Given the description of an element on the screen output the (x, y) to click on. 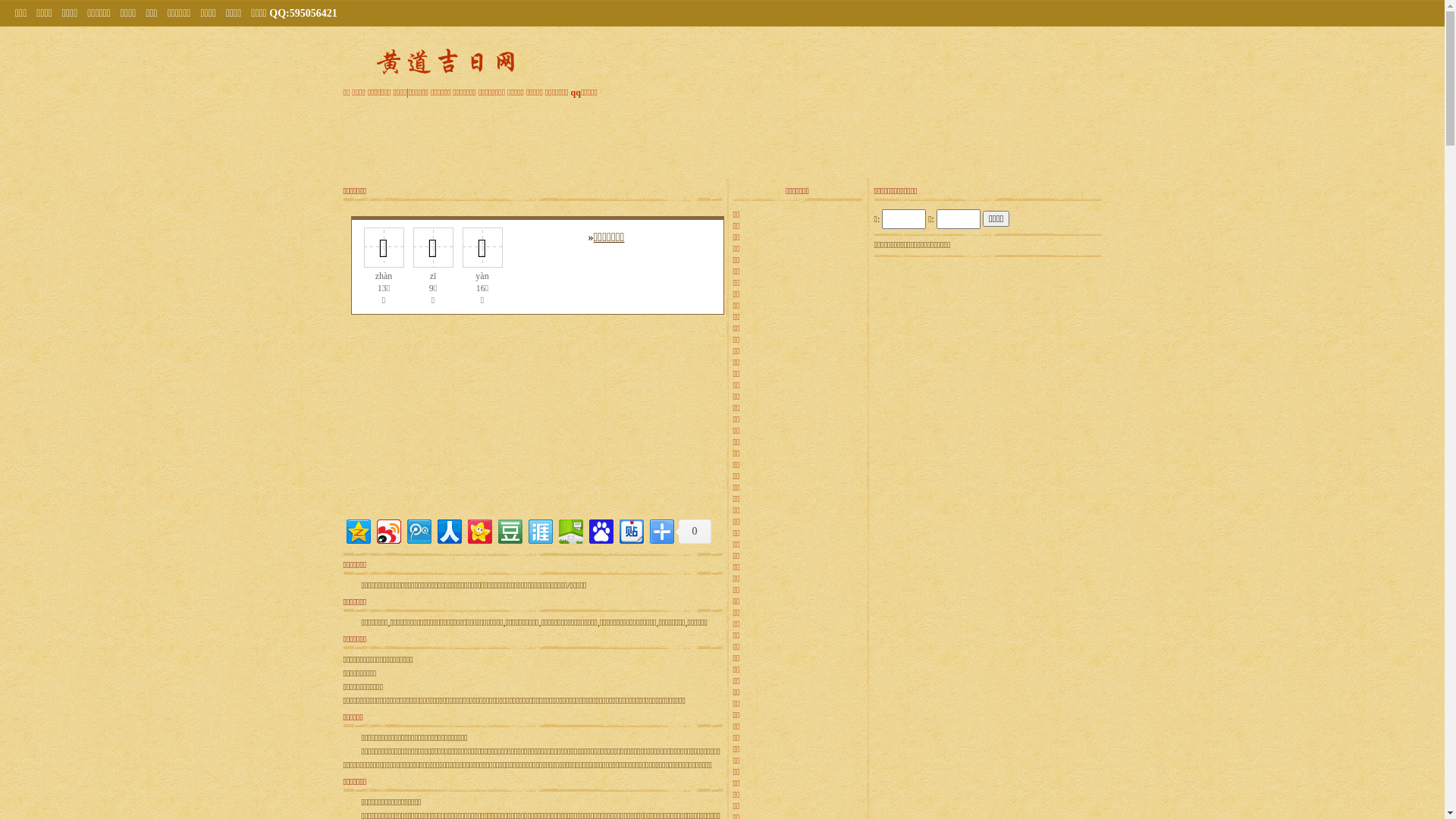
Advertisement Element type: hover (987, 545)
0 Element type: text (692, 531)
Advertisement Element type: hover (437, 420)
Advertisement Element type: hover (722, 136)
Advertisement Element type: hover (626, 420)
Advertisement Element type: hover (987, 355)
